Given the description of an element on the screen output the (x, y) to click on. 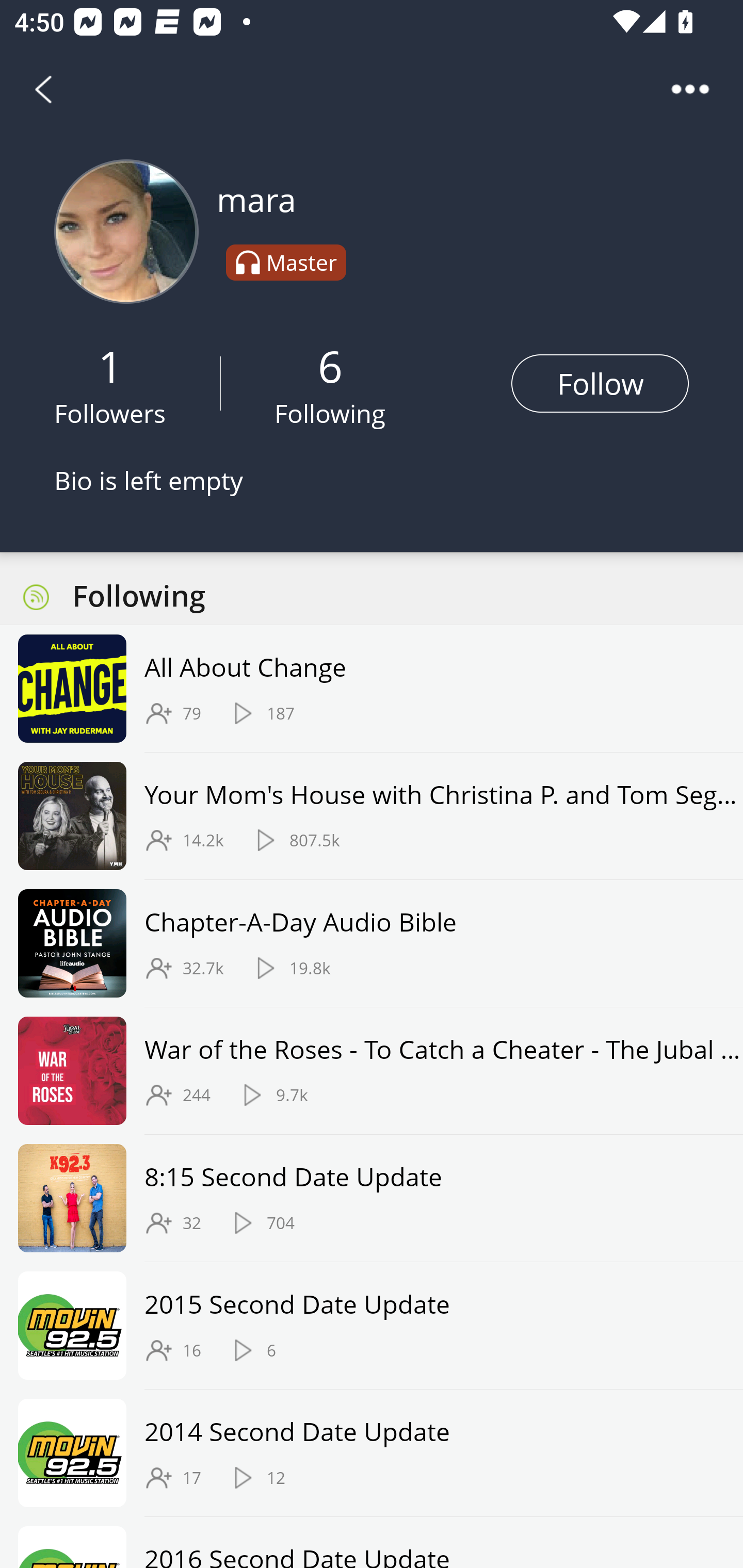
1 (110, 365)
6 (330, 365)
Follow (599, 383)
Followers (110, 413)
Following (329, 413)
All About Change 79 187 (371, 688)
Chapter-A-Day Audio Bible 32.7k 19.8k (371, 942)
8:15 Second Date Update 32 704 (371, 1198)
2015 Second Date Update 16 6 (371, 1325)
2014 Second Date Update 17 12 (371, 1452)
